Given the description of an element on the screen output the (x, y) to click on. 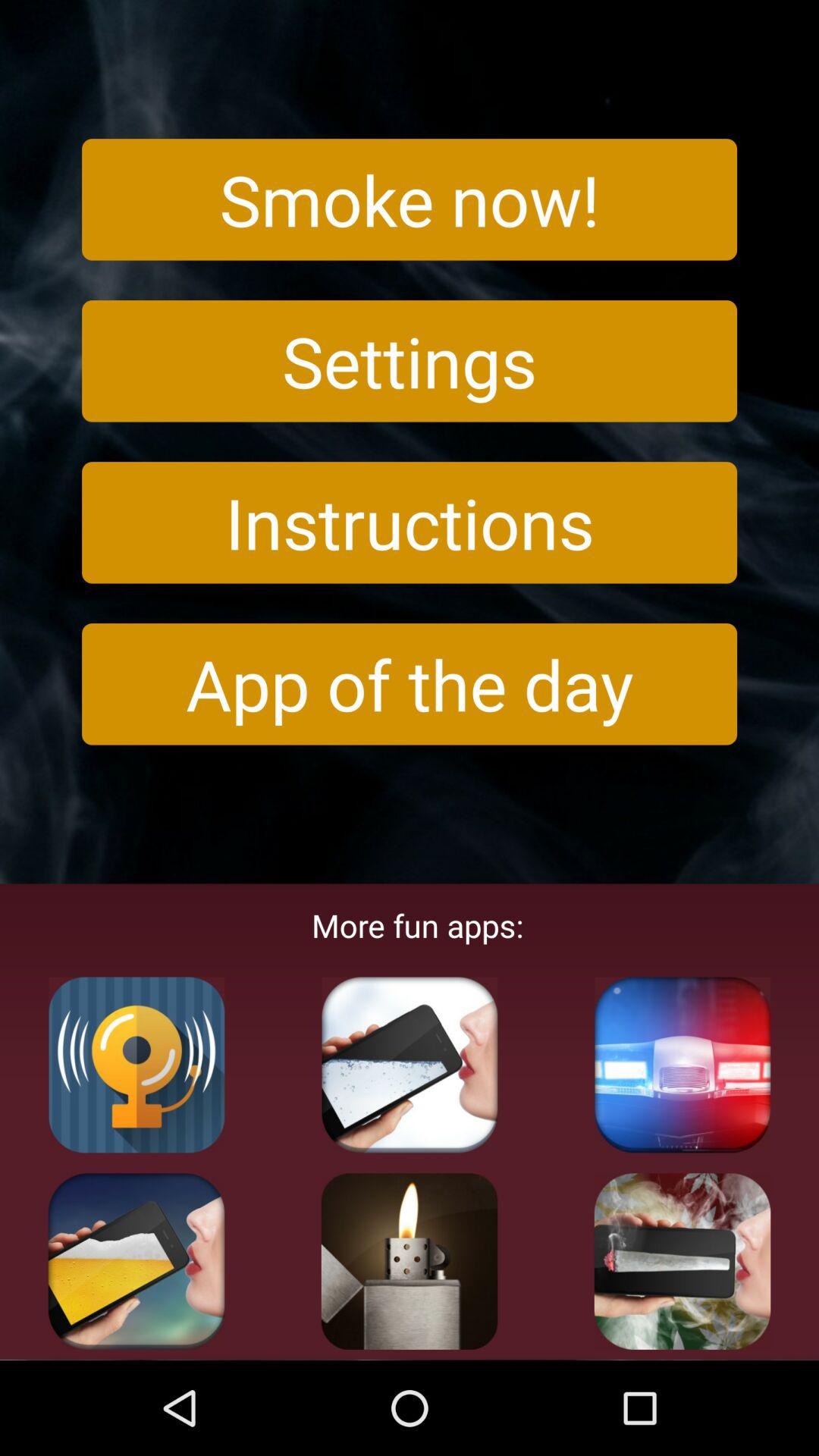
select this application (409, 1064)
